Given the description of an element on the screen output the (x, y) to click on. 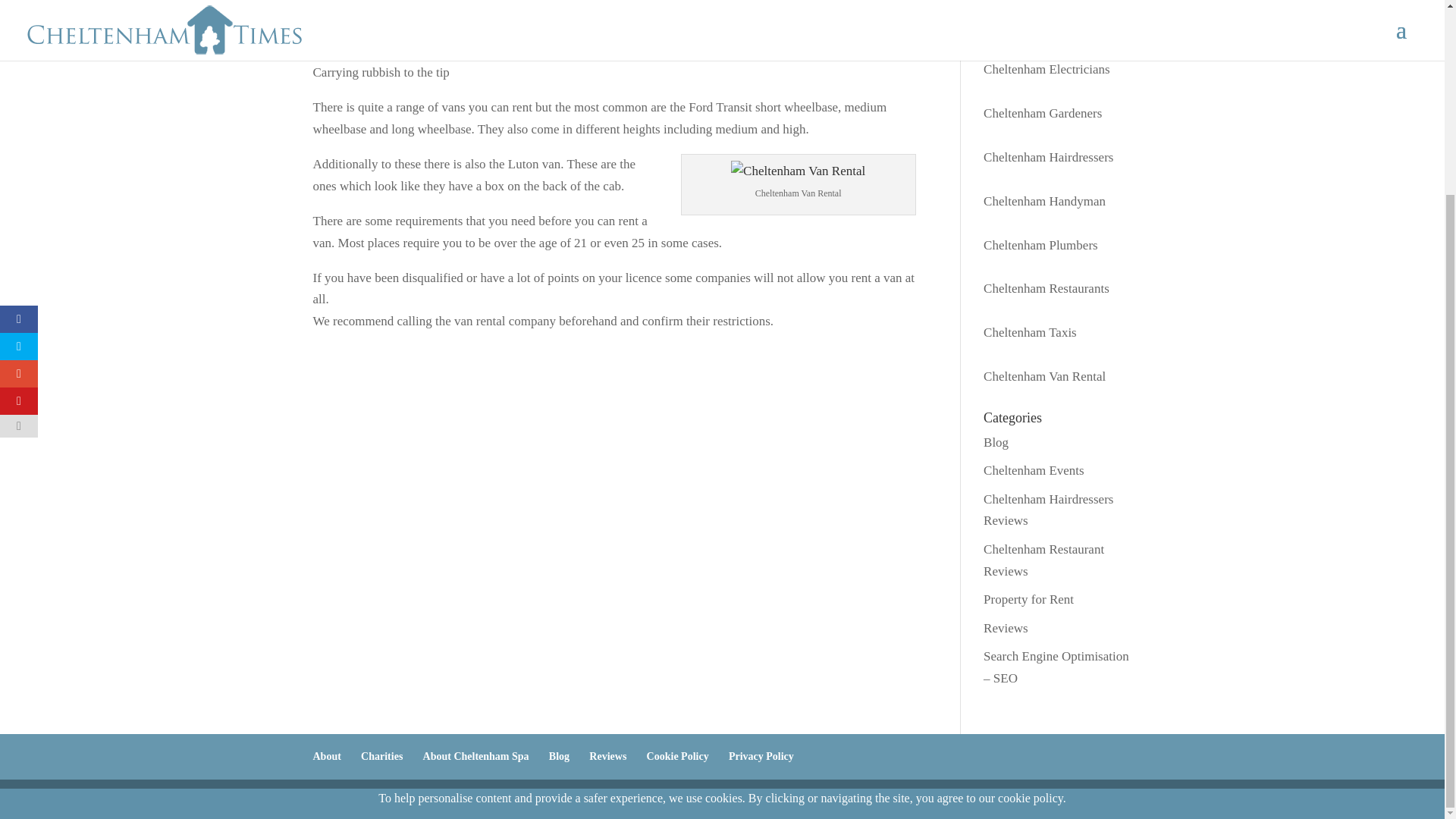
Blog (996, 441)
Cheltenham Restaurant Reviews (1043, 560)
Cheltenham Van Rental (797, 170)
Cheltenham Events (1034, 470)
A list of Cheltenham Plumbers (1040, 245)
About Cheltenham Spa (476, 756)
Reviews (607, 756)
Charities (382, 756)
A list of Cheltenham Electricians (1046, 69)
Cheltenham Hairdressers (1048, 156)
Cheltenham Van Rental (1044, 376)
A list of Cheltenham Handyman (1044, 201)
Cheltenham Gardeners (1043, 113)
Cheltenham Plumbers (1040, 245)
Cheltenham Handyman (1044, 201)
